Given the description of an element on the screen output the (x, y) to click on. 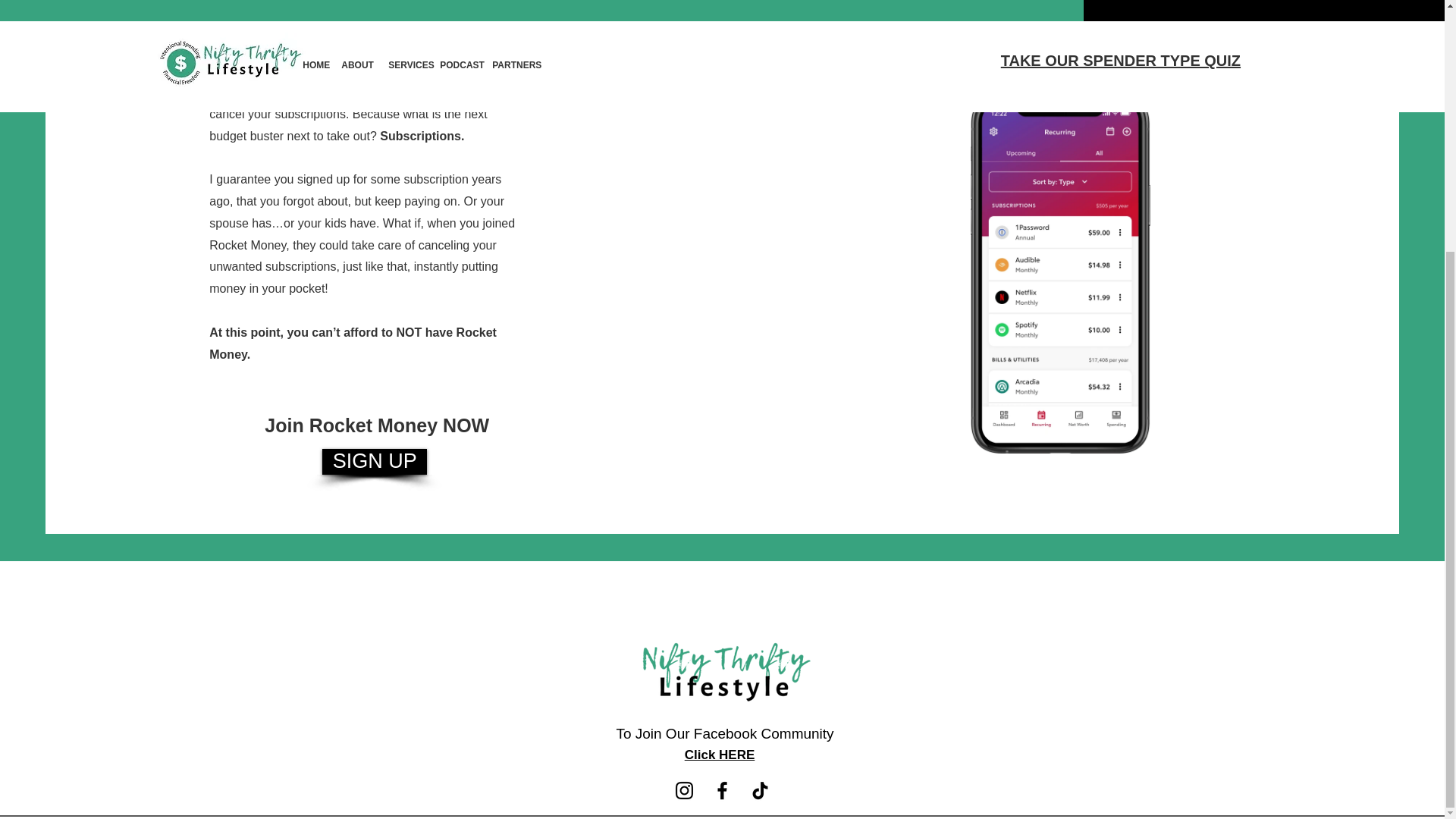
SIGN UP (373, 461)
Click HERE (719, 754)
